Given the description of an element on the screen output the (x, y) to click on. 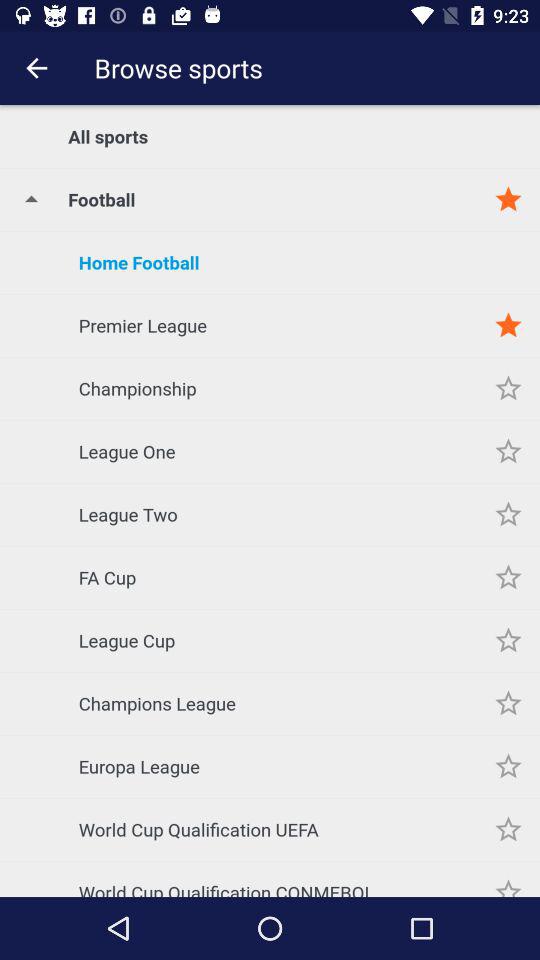
favorite item (508, 829)
